Given the description of an element on the screen output the (x, y) to click on. 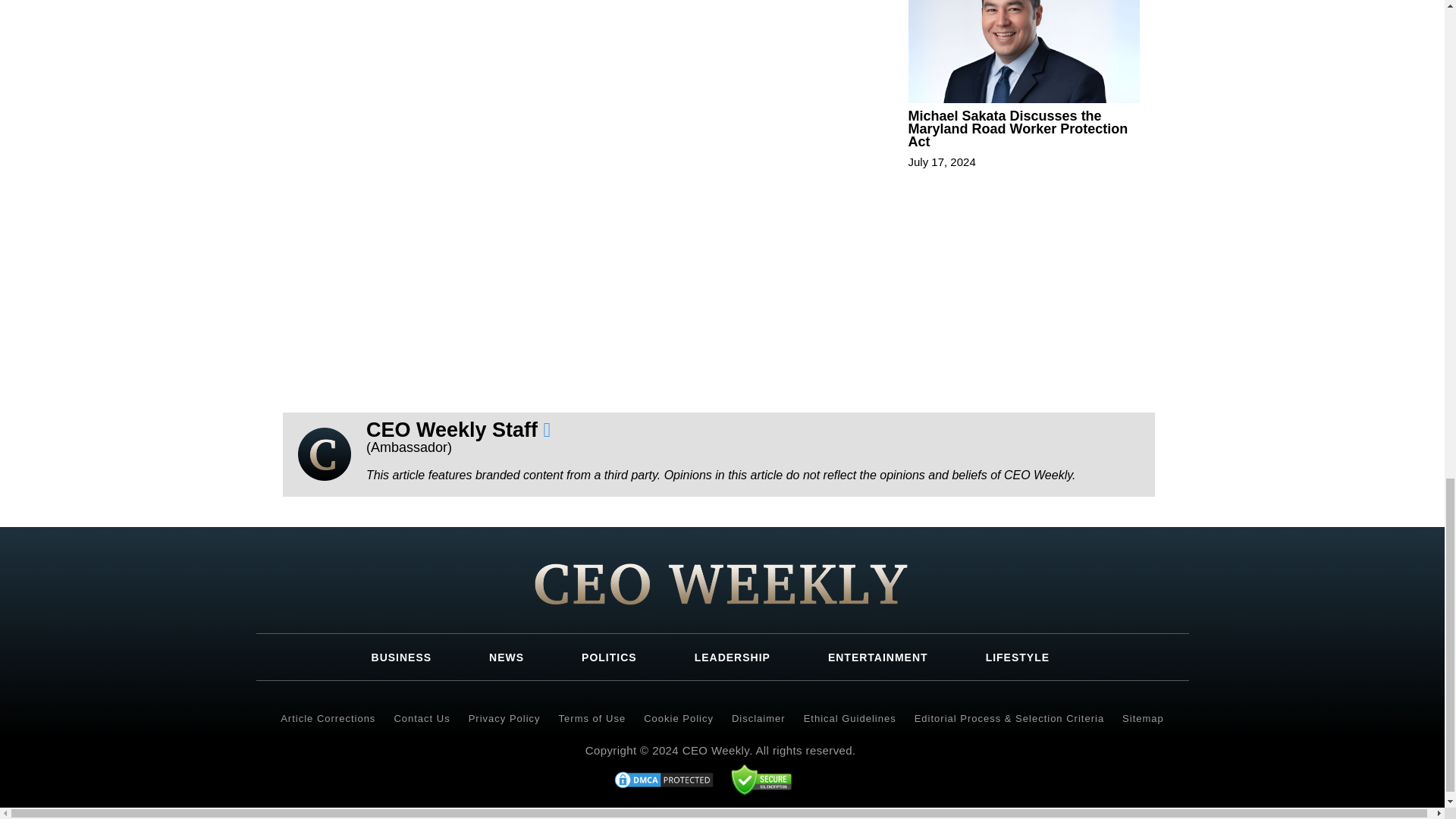
DMCA.com Protection Status (663, 778)
